Given the description of an element on the screen output the (x, y) to click on. 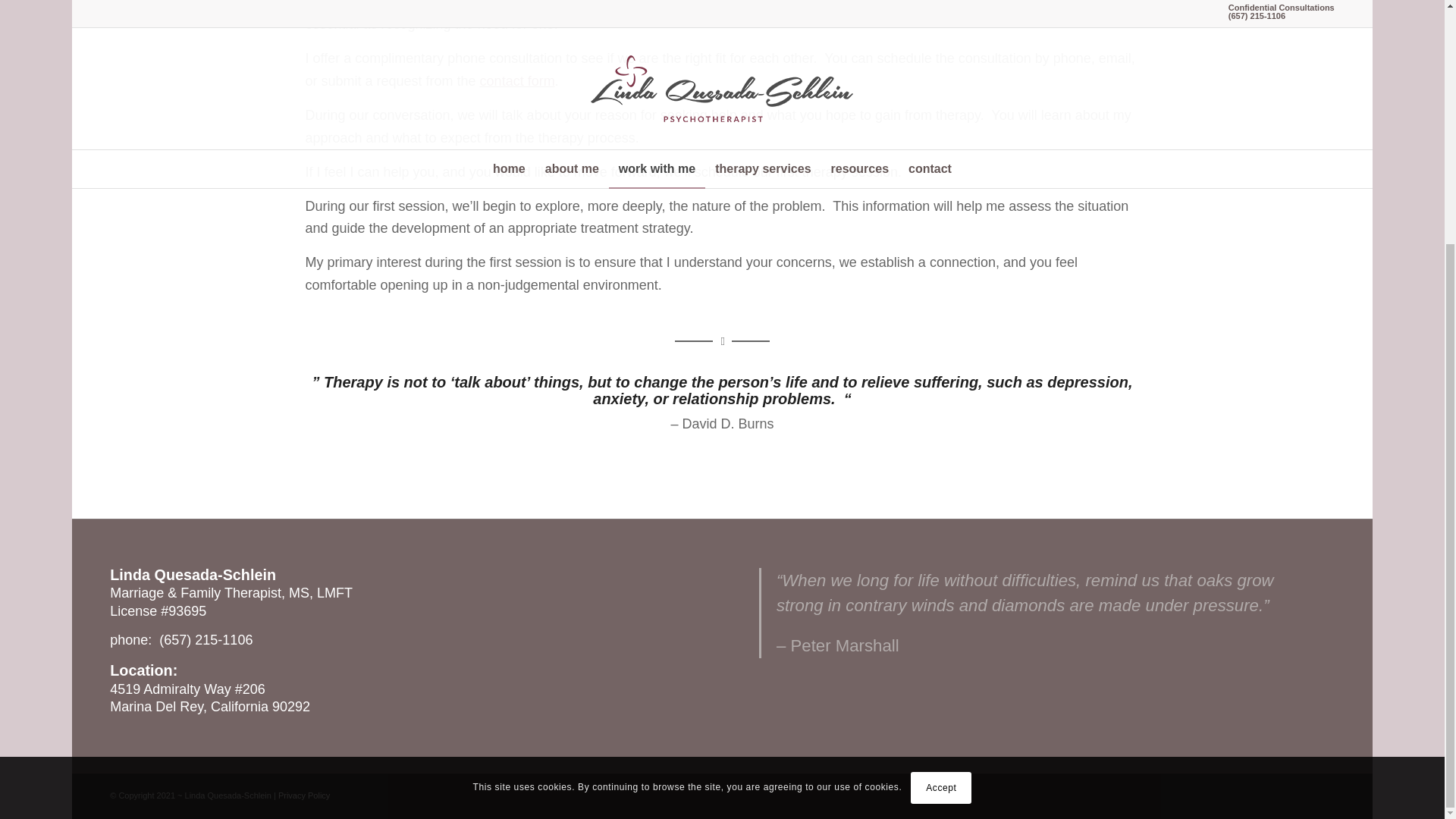
Accept (941, 450)
contact form (517, 80)
Privacy Policy (304, 795)
